Given the description of an element on the screen output the (x, y) to click on. 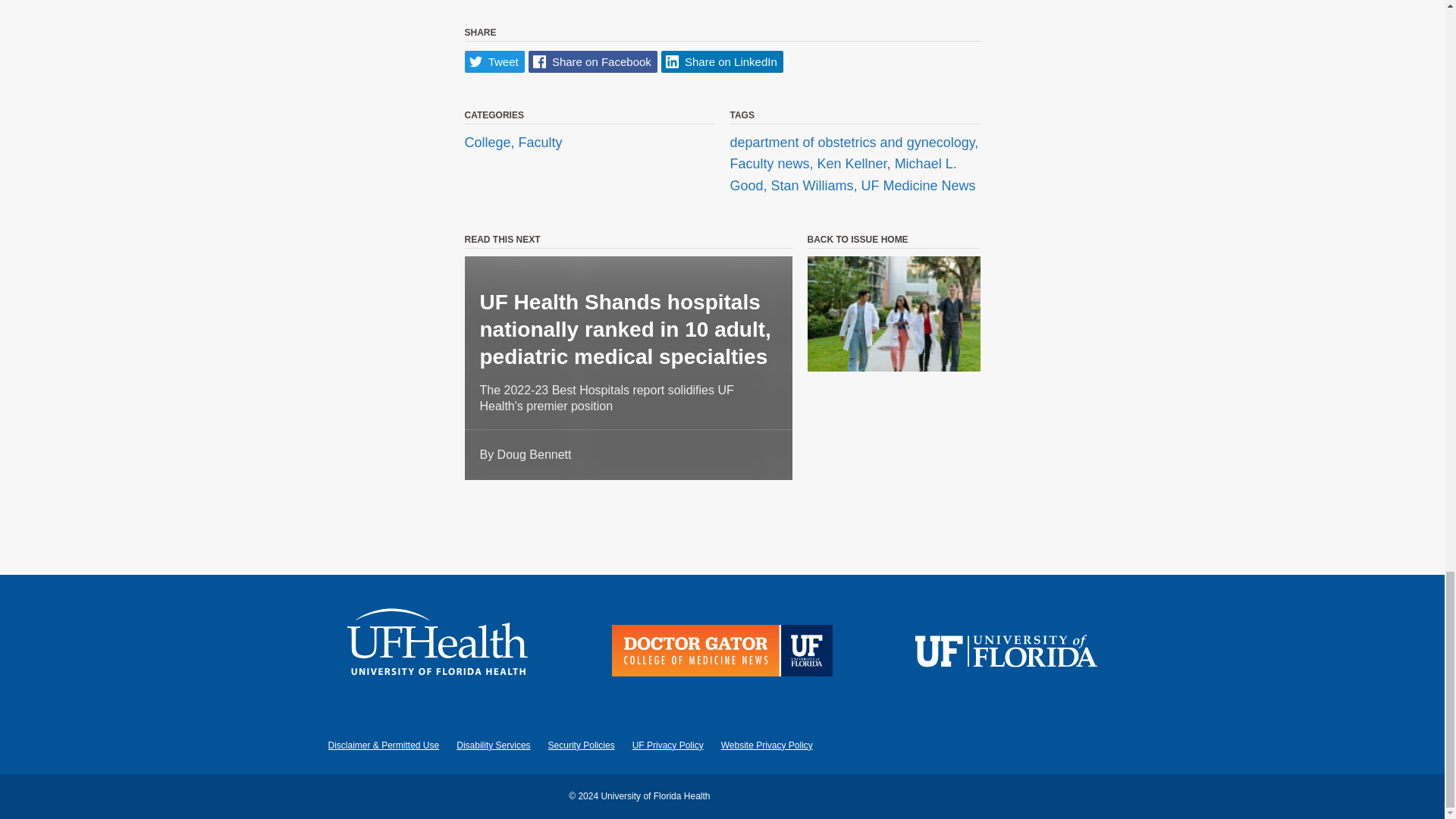
Share on Facebook (593, 61)
Michael L. Good, (842, 175)
UF Privacy Policy (667, 745)
University of Florida Logo (1005, 653)
Publication Logo (721, 653)
Share on LinkedIn (722, 61)
Disability Services (493, 745)
UF Medicine News (918, 185)
UF Health Logo (437, 653)
Website Privacy Policy (766, 745)
College, (491, 142)
Faculty (540, 142)
Ken Kellner, (855, 164)
UF Health (437, 653)
